Given the description of an element on the screen output the (x, y) to click on. 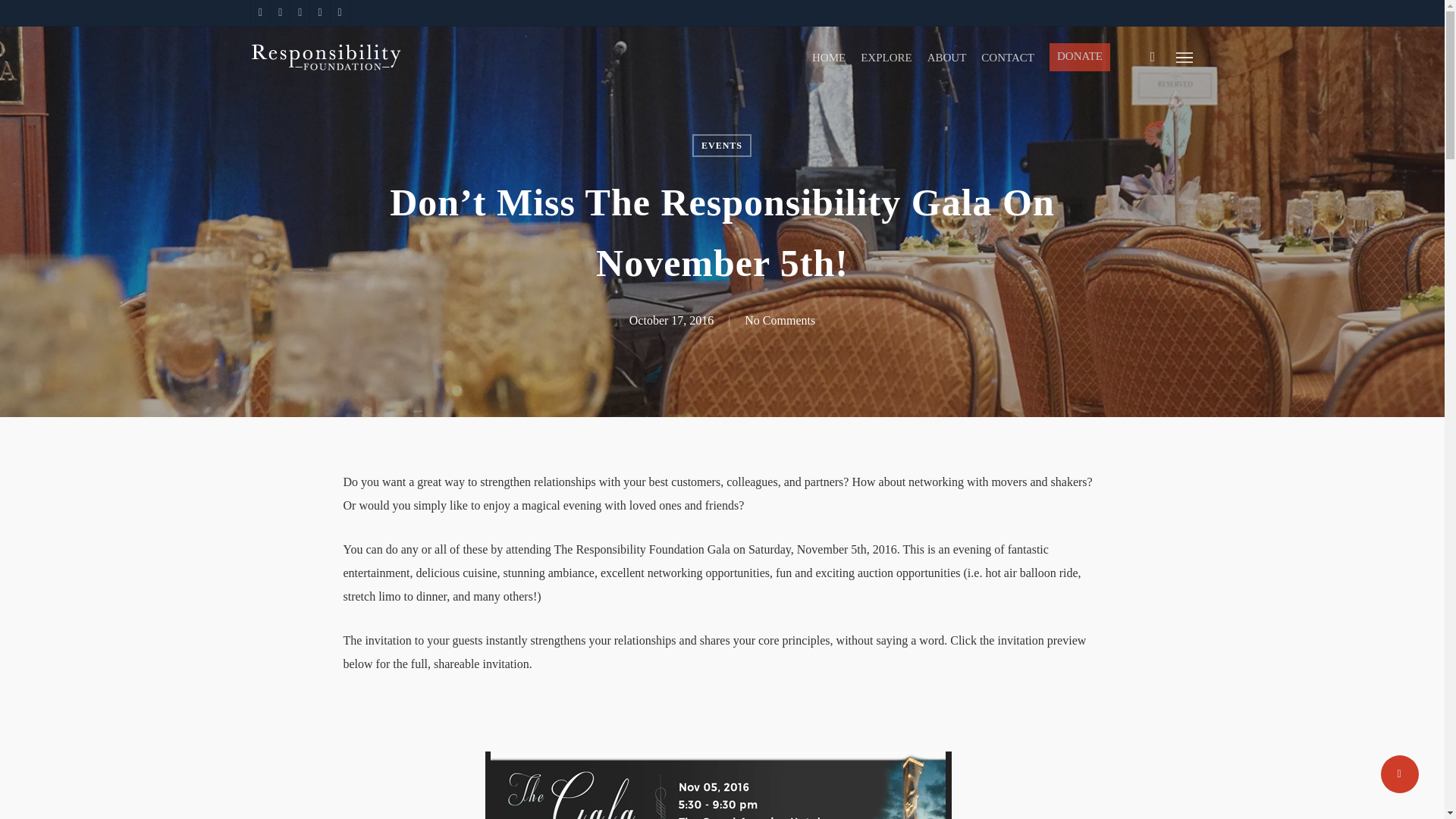
EVENTS (722, 145)
No Comments (779, 319)
DONATE (1079, 57)
ABOUT (946, 57)
EXPLORE (886, 57)
CONTACT (1007, 57)
Menu (1184, 56)
HOME (828, 57)
search (1151, 56)
